Given the description of an element on the screen output the (x, y) to click on. 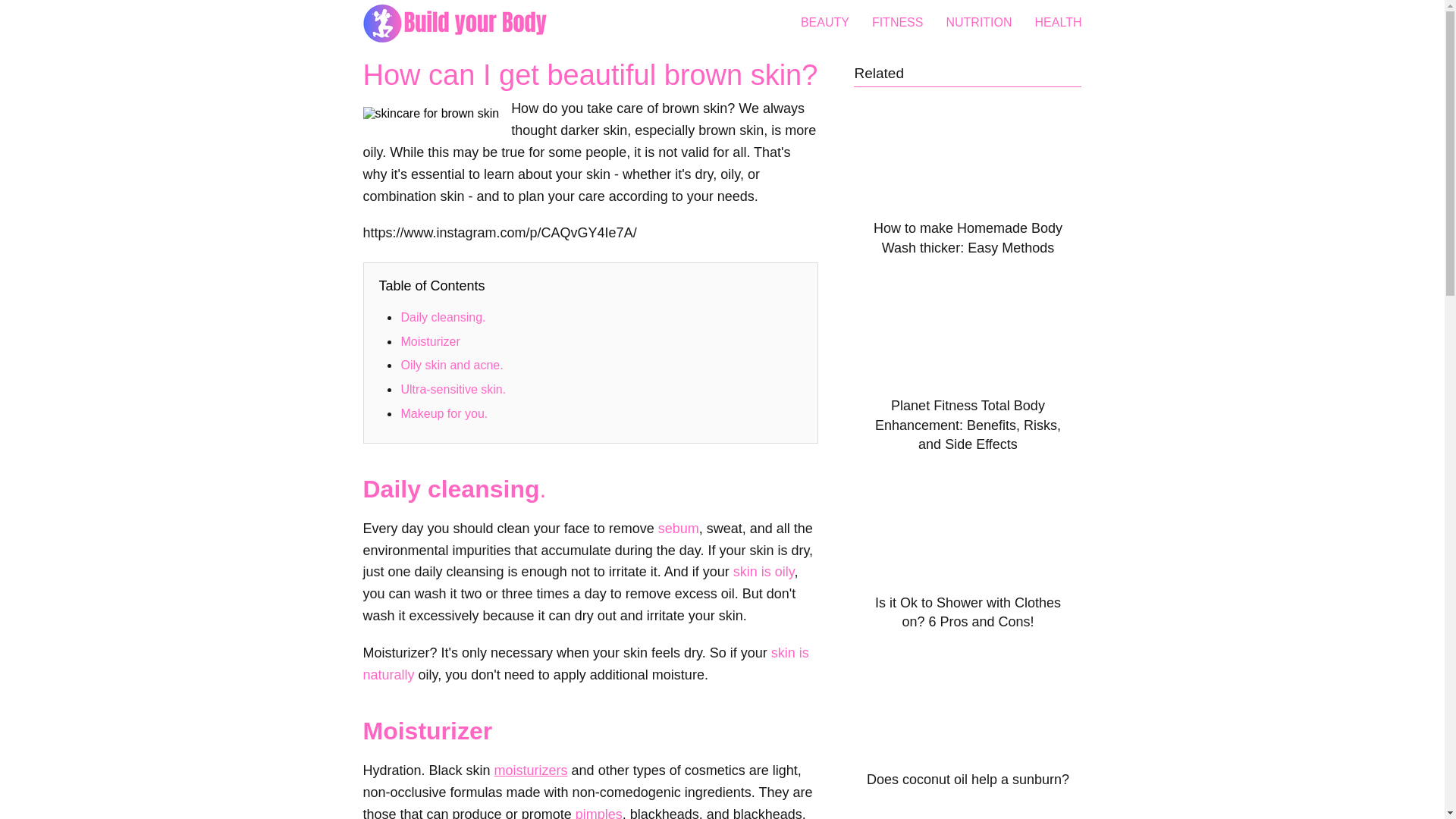
Is it Ok to Shower with Clothes on? 6 Pros and Cons! (967, 555)
NUTRITION (977, 21)
Daily cleansing.  (444, 317)
moisturizers (531, 770)
HEALTH (1058, 21)
sebum (678, 528)
FITNESS (897, 21)
pimples (599, 812)
Moisturizer  (431, 341)
BEAUTY (824, 21)
Does coconut oil help a sunburn? (967, 722)
Ultra-sensitive skin.  (454, 389)
